Given the description of an element on the screen output the (x, y) to click on. 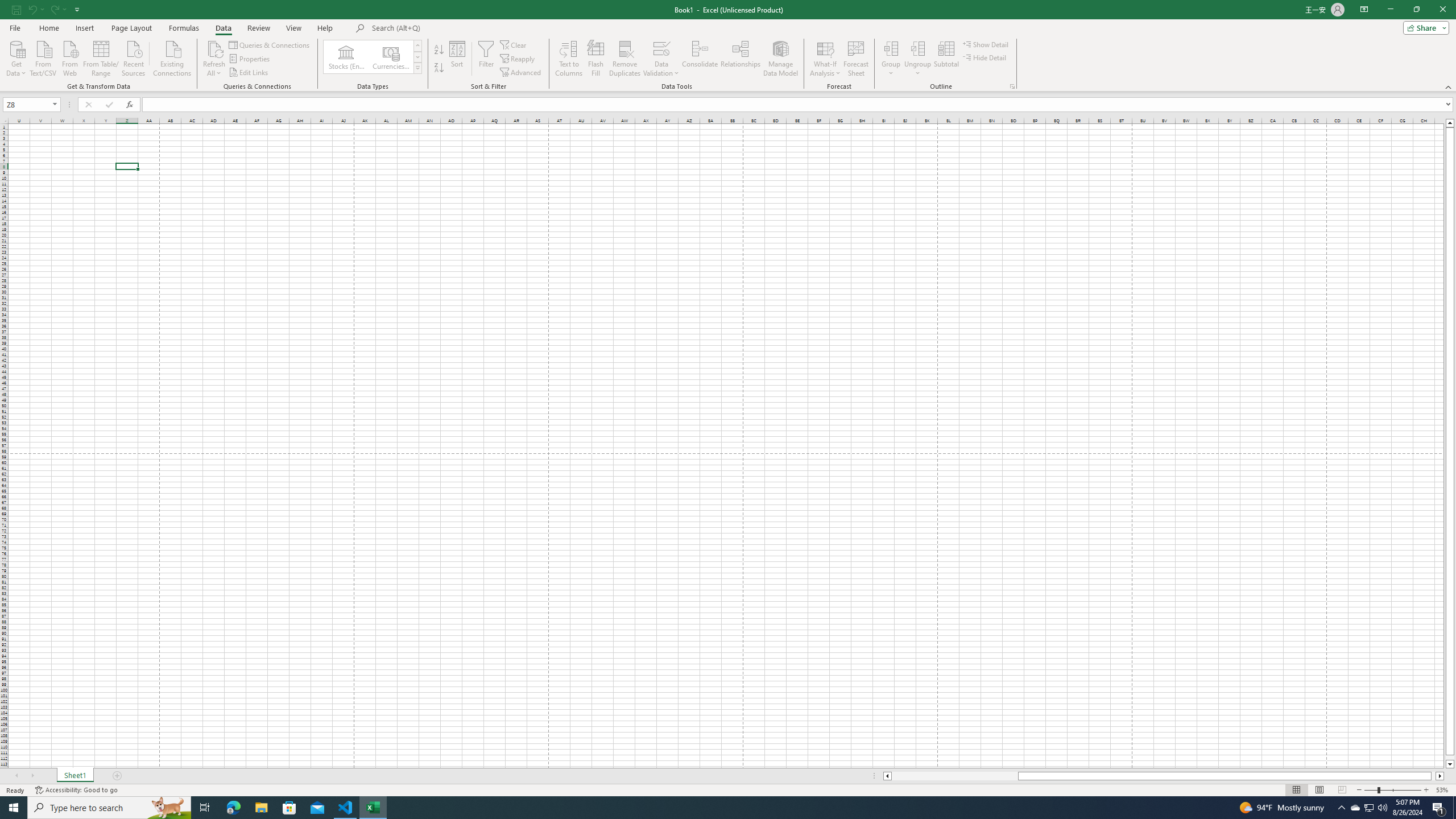
Get Data (16, 57)
Sort A to Z (438, 49)
Advanced... (520, 72)
Forecast Sheet (856, 58)
Recent Sources (133, 57)
